Given the description of an element on the screen output the (x, y) to click on. 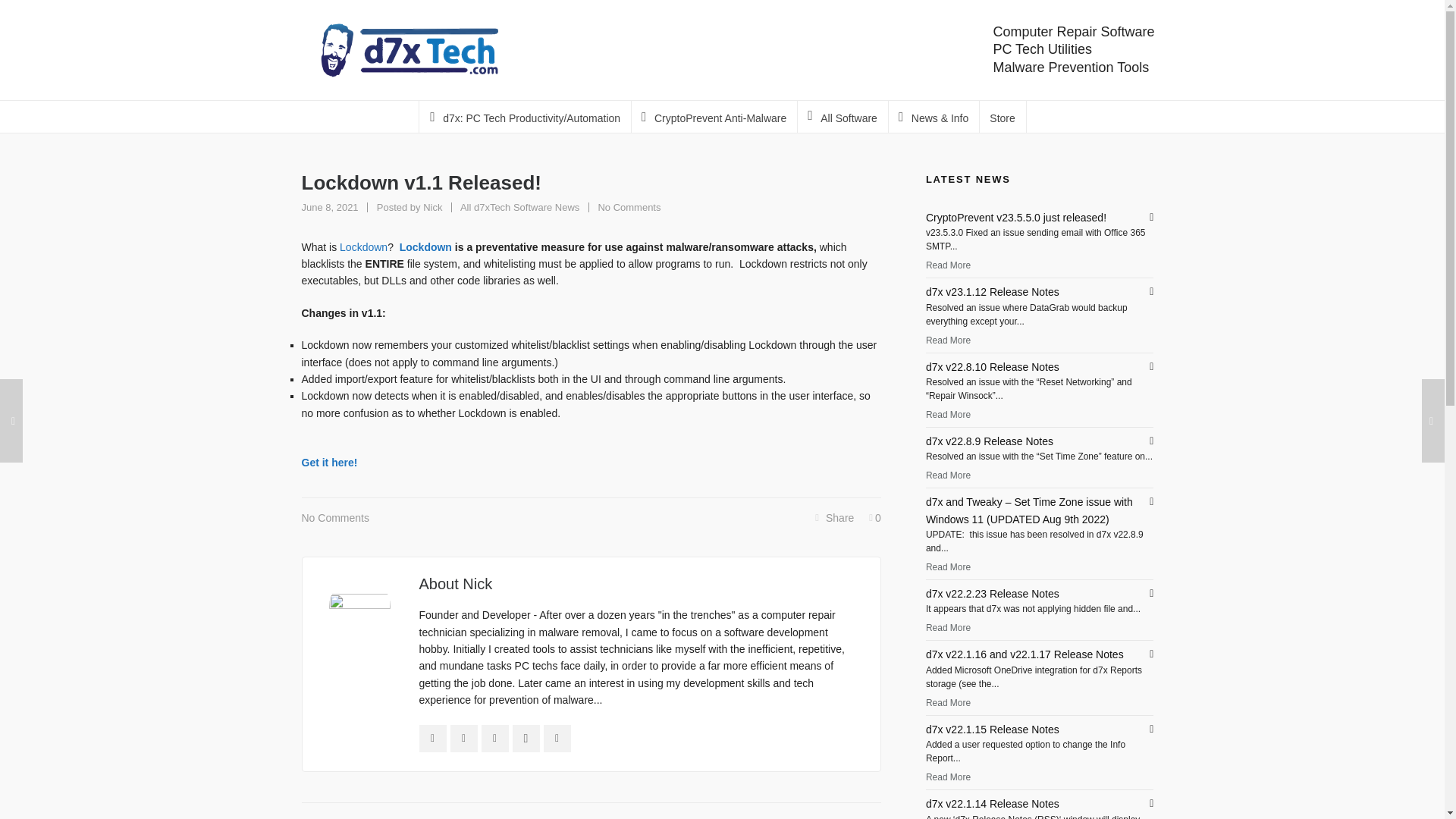
Facebook (432, 738)
Twitter (526, 738)
No Comments (628, 206)
RSS (494, 738)
No Comments (335, 517)
LinkedIn (463, 738)
YouTube (432, 206)
